Given the description of an element on the screen output the (x, y) to click on. 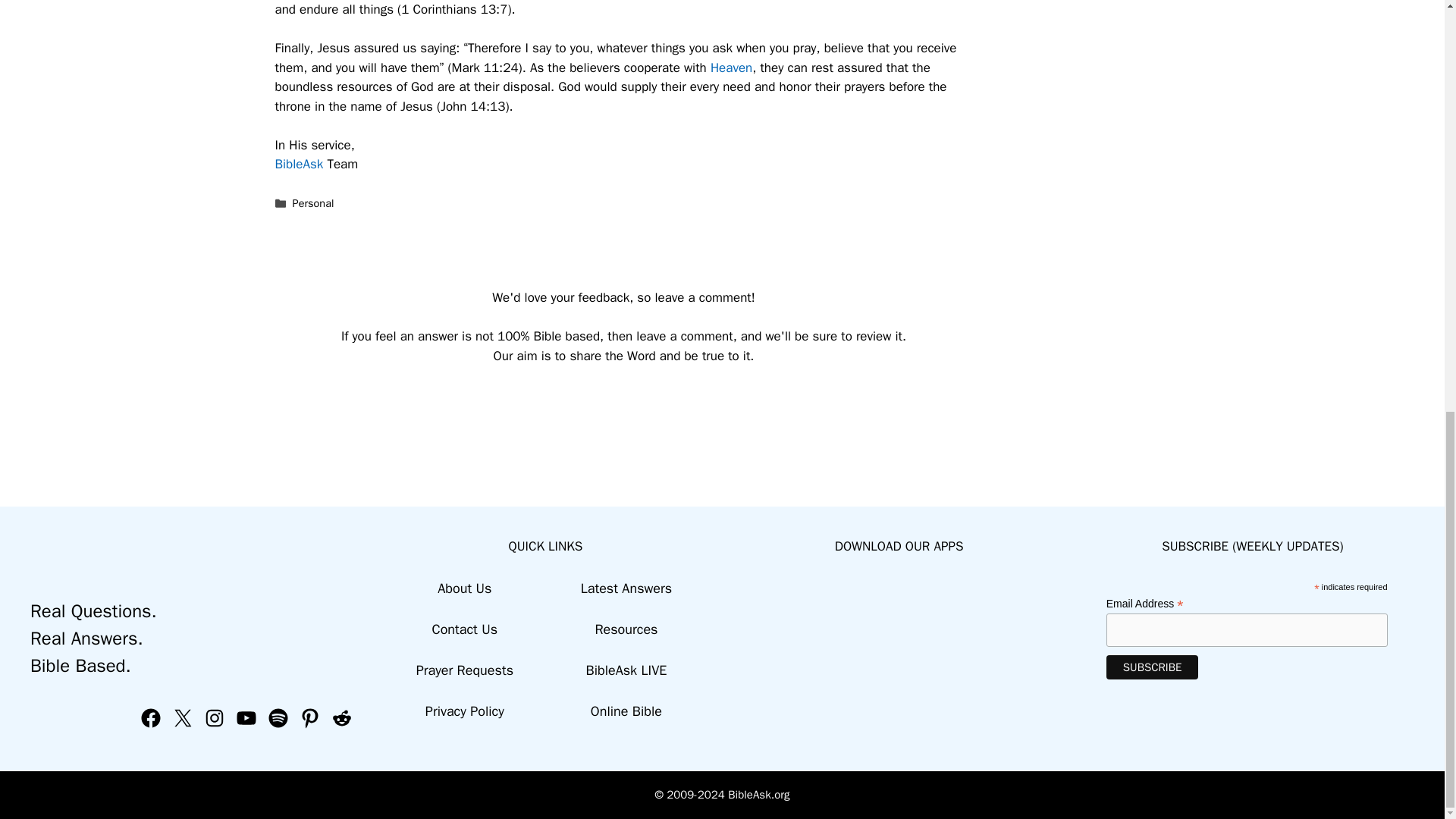
Personal (313, 202)
Subscribe (1152, 667)
BibleAsk (299, 163)
Heaven (731, 66)
